Given the description of an element on the screen output the (x, y) to click on. 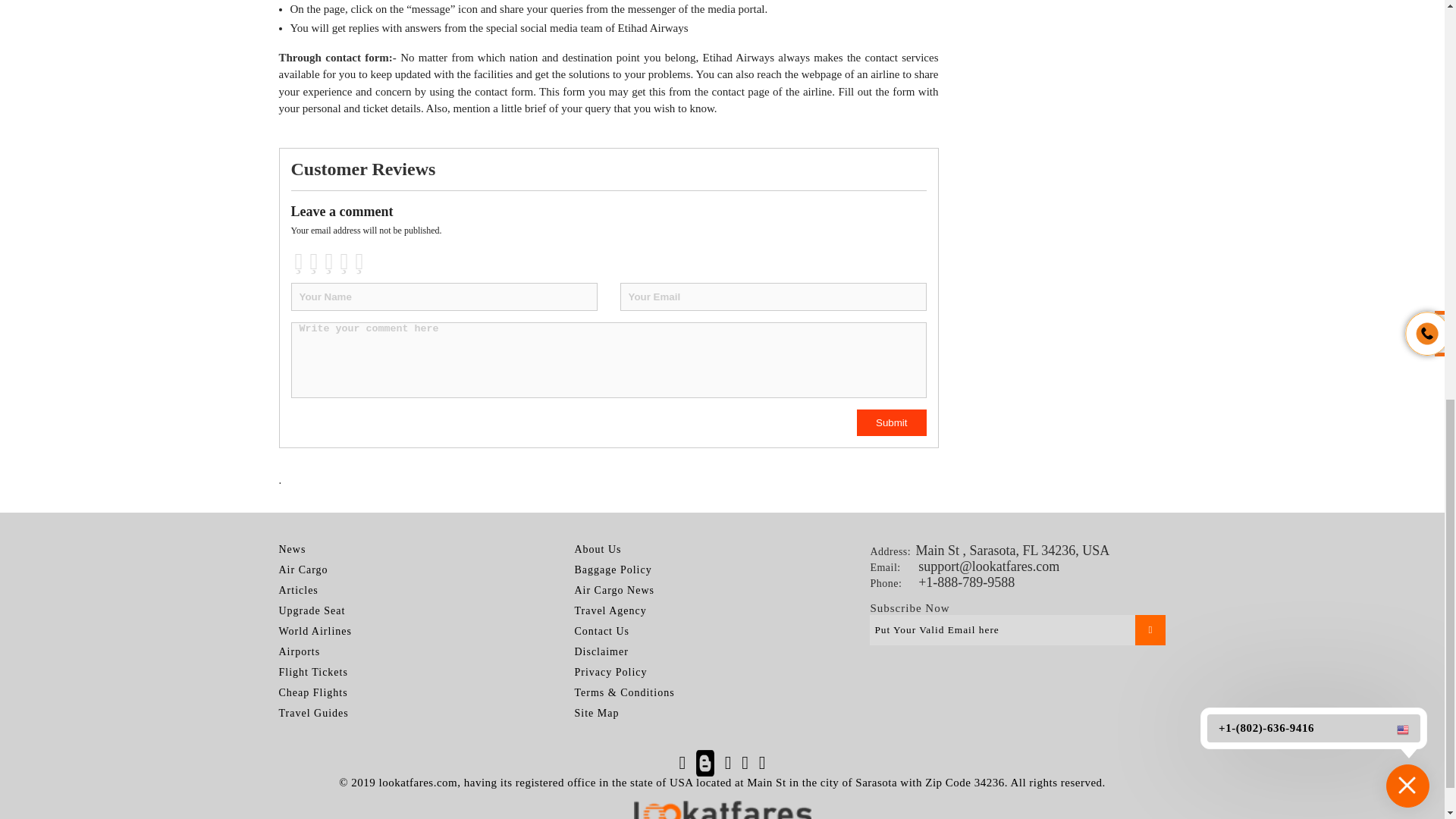
World Airlines (315, 630)
Upgrade Seat (312, 611)
Air Cargo News (613, 589)
Articles (298, 589)
Travel Guides (314, 712)
Flight Tickets (313, 671)
Baggage Policy (611, 570)
Submit (891, 422)
Privacy Policy (609, 671)
Travel Agency (609, 611)
